Given the description of an element on the screen output the (x, y) to click on. 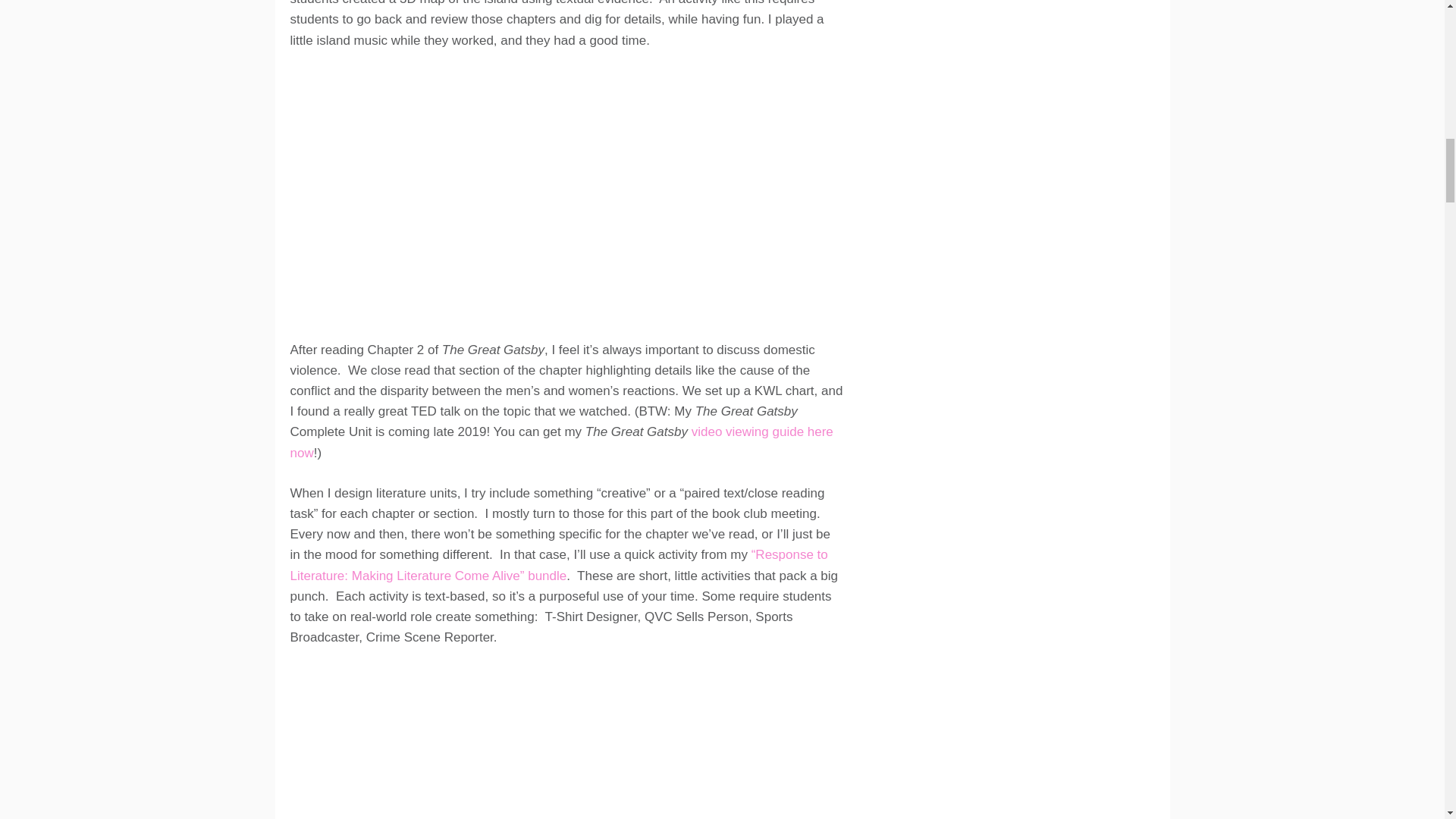
video viewing guide here now (560, 442)
